Given the description of an element on the screen output the (x, y) to click on. 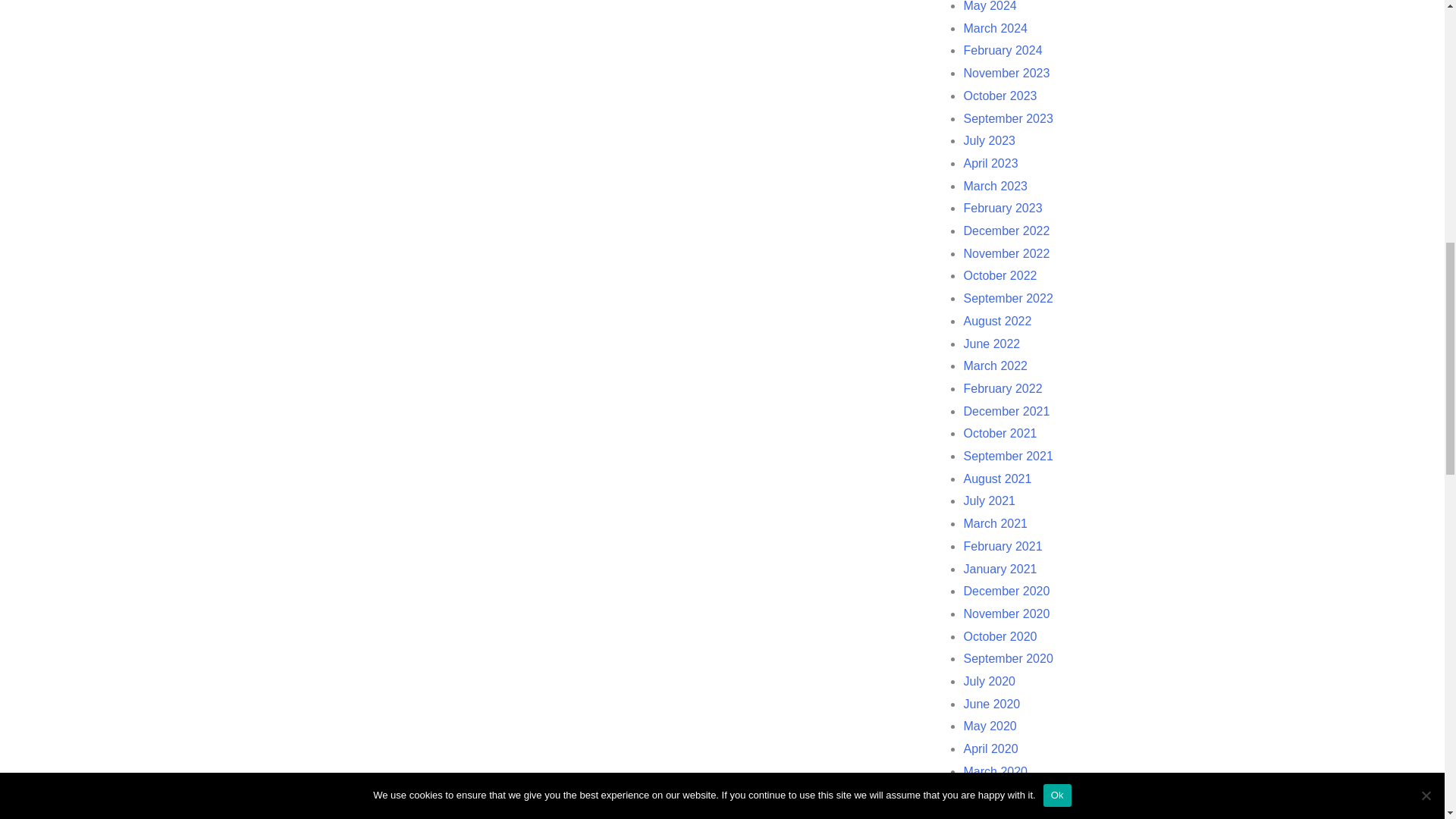
September 2023 (1007, 118)
October 2023 (999, 95)
March 2023 (994, 185)
March 2024 (994, 28)
April 2023 (989, 163)
November 2023 (1005, 72)
February 2024 (1002, 50)
July 2023 (988, 140)
May 2024 (989, 6)
